Given the description of an element on the screen output the (x, y) to click on. 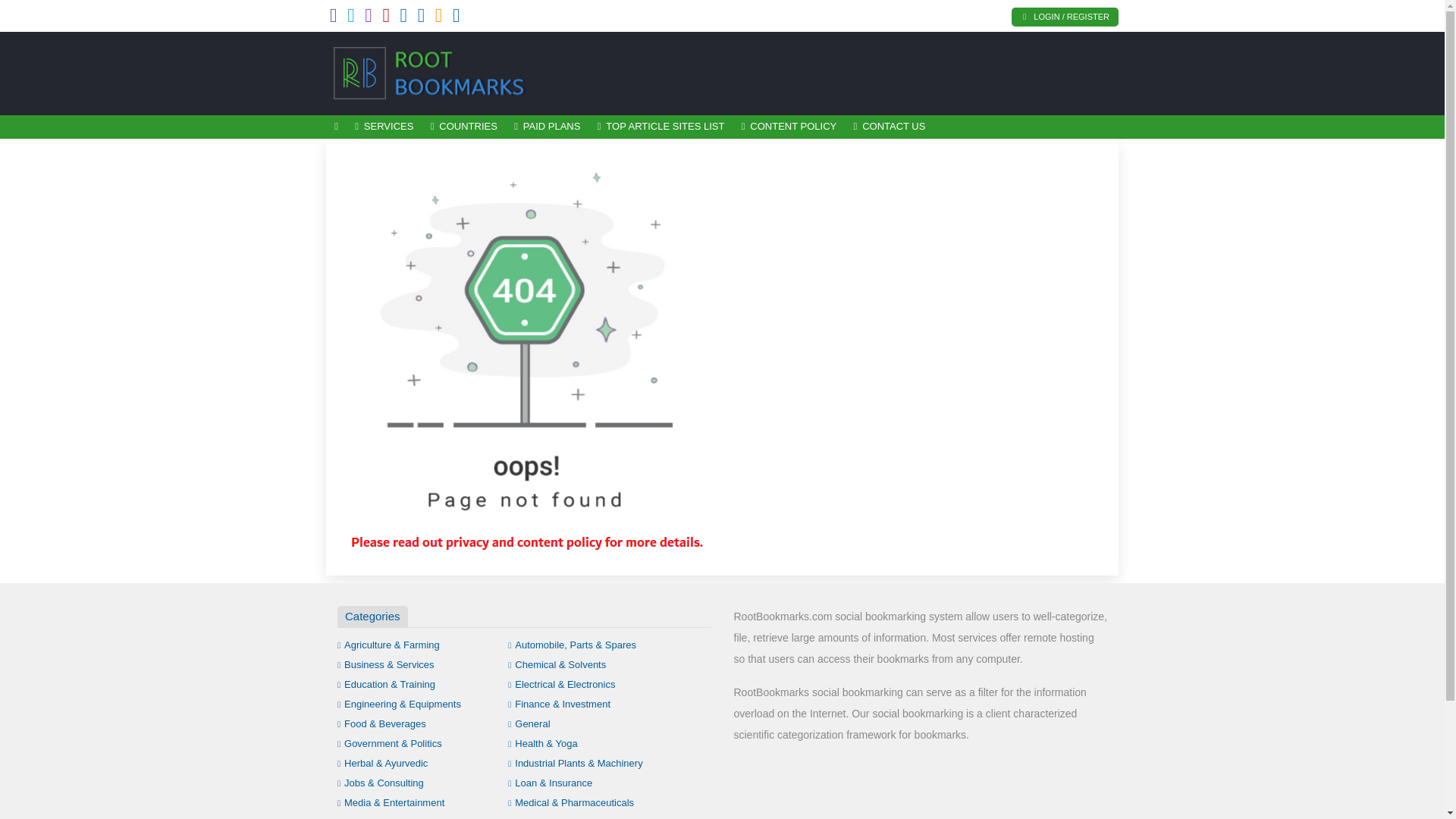
RSS Feed (438, 18)
Tumblr (403, 18)
Linked In (456, 18)
TOP ARTICLE SITES LIST (661, 126)
Twitter (351, 18)
SERVICES (384, 126)
CONTACT US (888, 126)
Facebook (333, 18)
CONTENT POLICY (789, 126)
PAID PLANS (547, 126)
COUNTRIES (463, 126)
Medium (421, 18)
Instagram (368, 18)
HOME (336, 126)
